Given the description of an element on the screen output the (x, y) to click on. 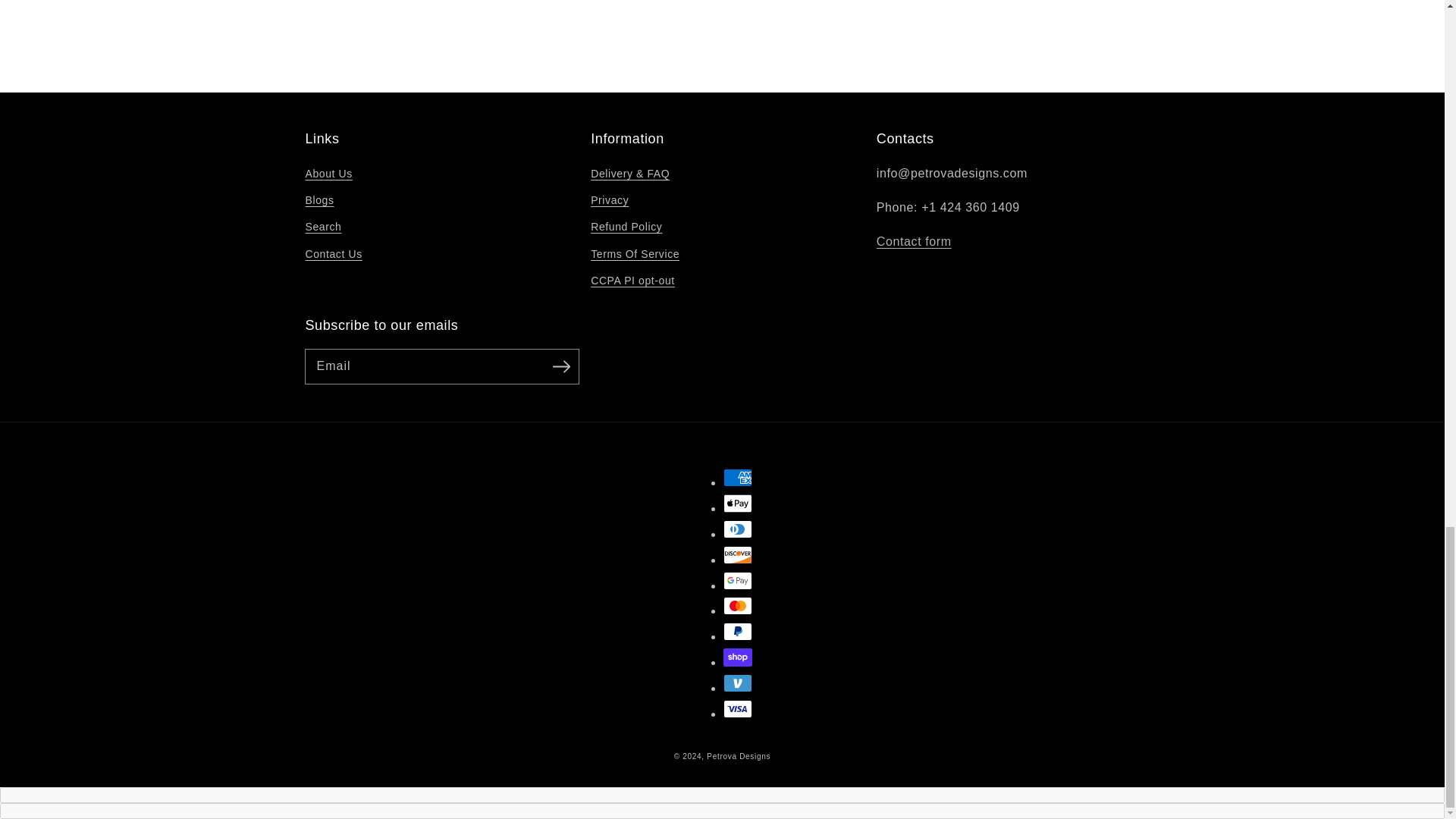
Contact (914, 241)
